Given the description of an element on the screen output the (x, y) to click on. 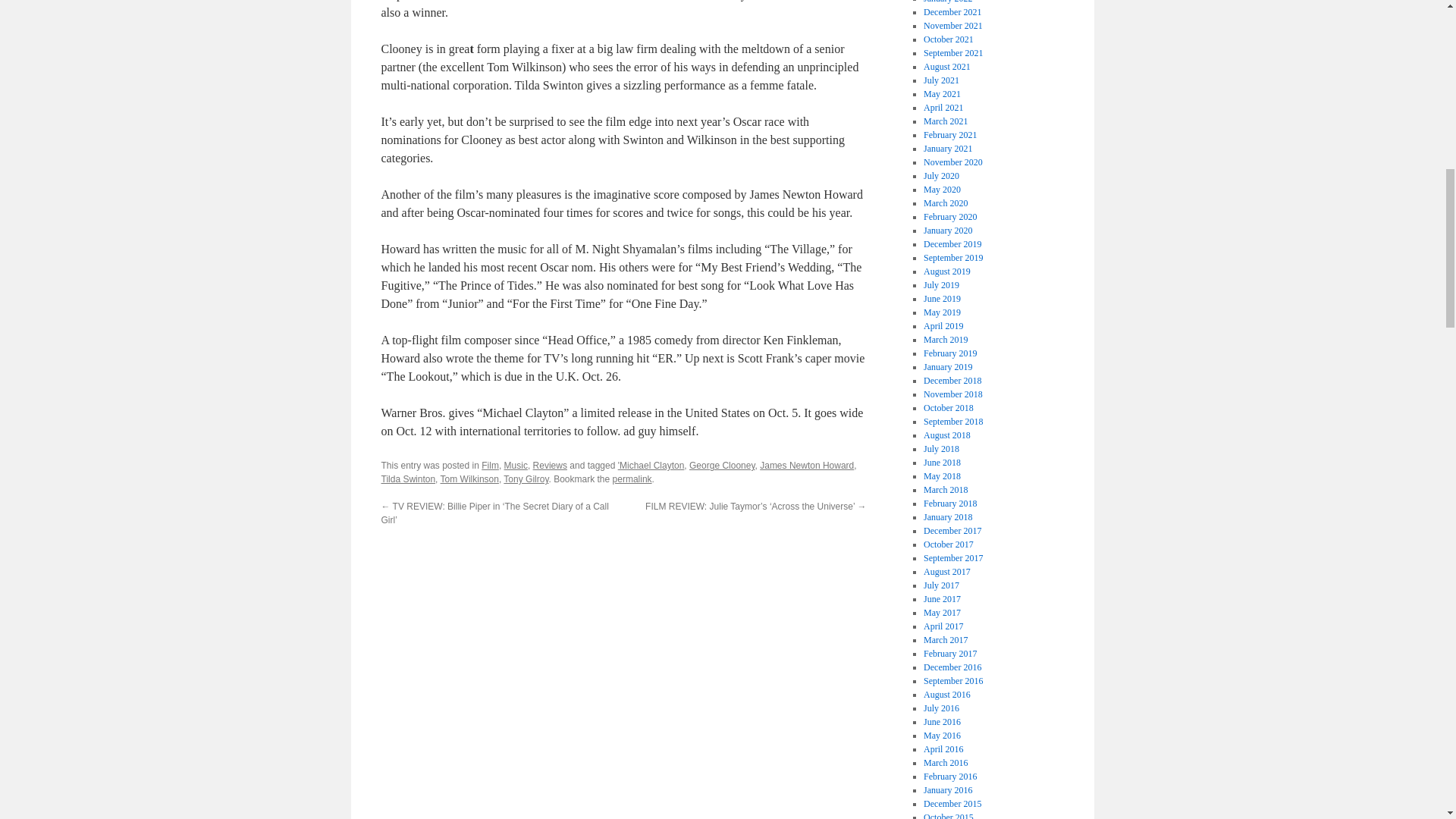
Reviews (549, 465)
Tony Gilroy (525, 479)
Tom Wilkinson (470, 479)
Tilda Swinton (407, 479)
Film (490, 465)
'Michael Clayton (650, 465)
Music (515, 465)
permalink (632, 479)
James Newton Howard (806, 465)
George Clooney (721, 465)
